Given the description of an element on the screen output the (x, y) to click on. 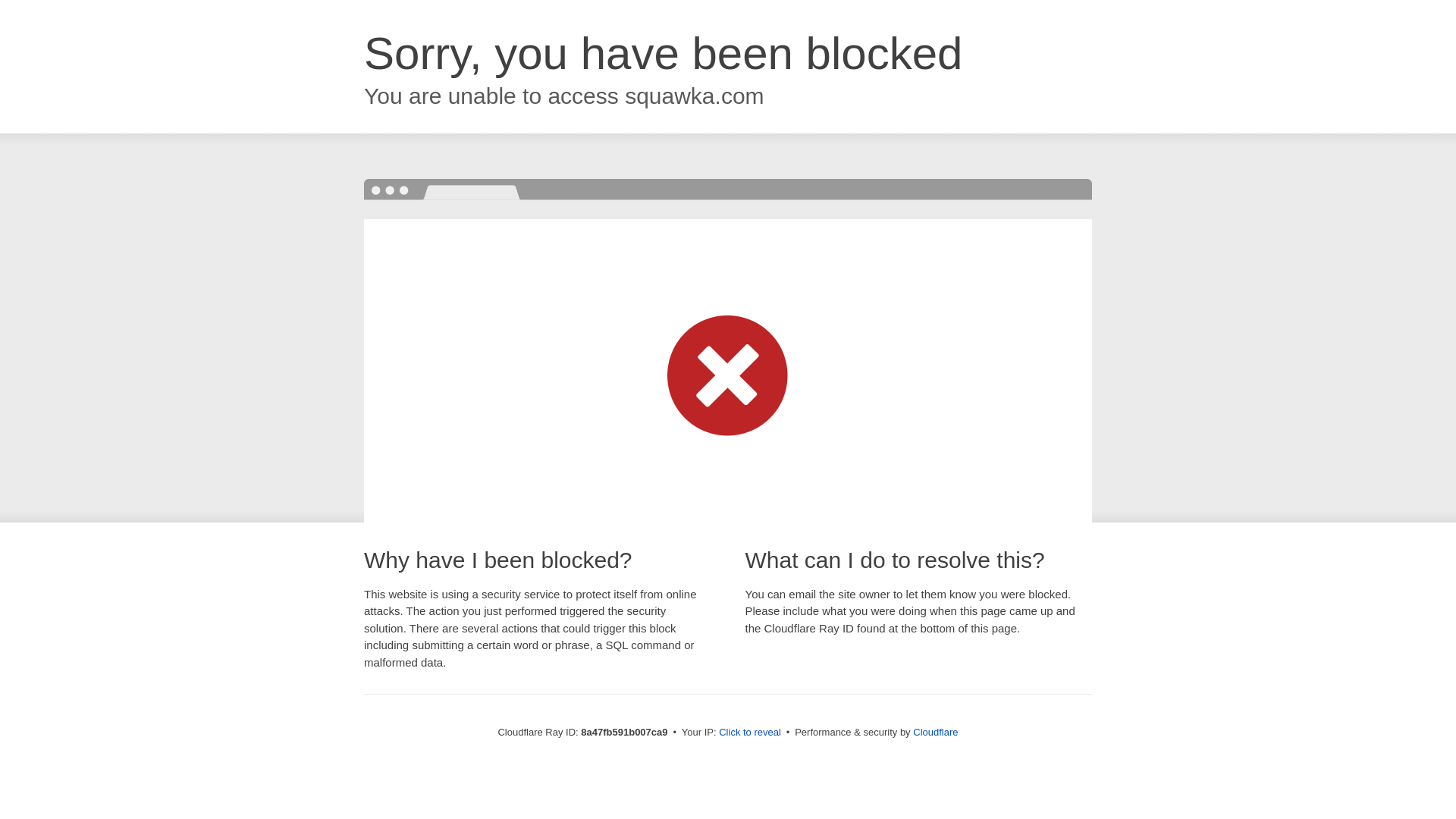
Click to reveal (749, 732)
Cloudflare (935, 731)
